Given the description of an element on the screen output the (x, y) to click on. 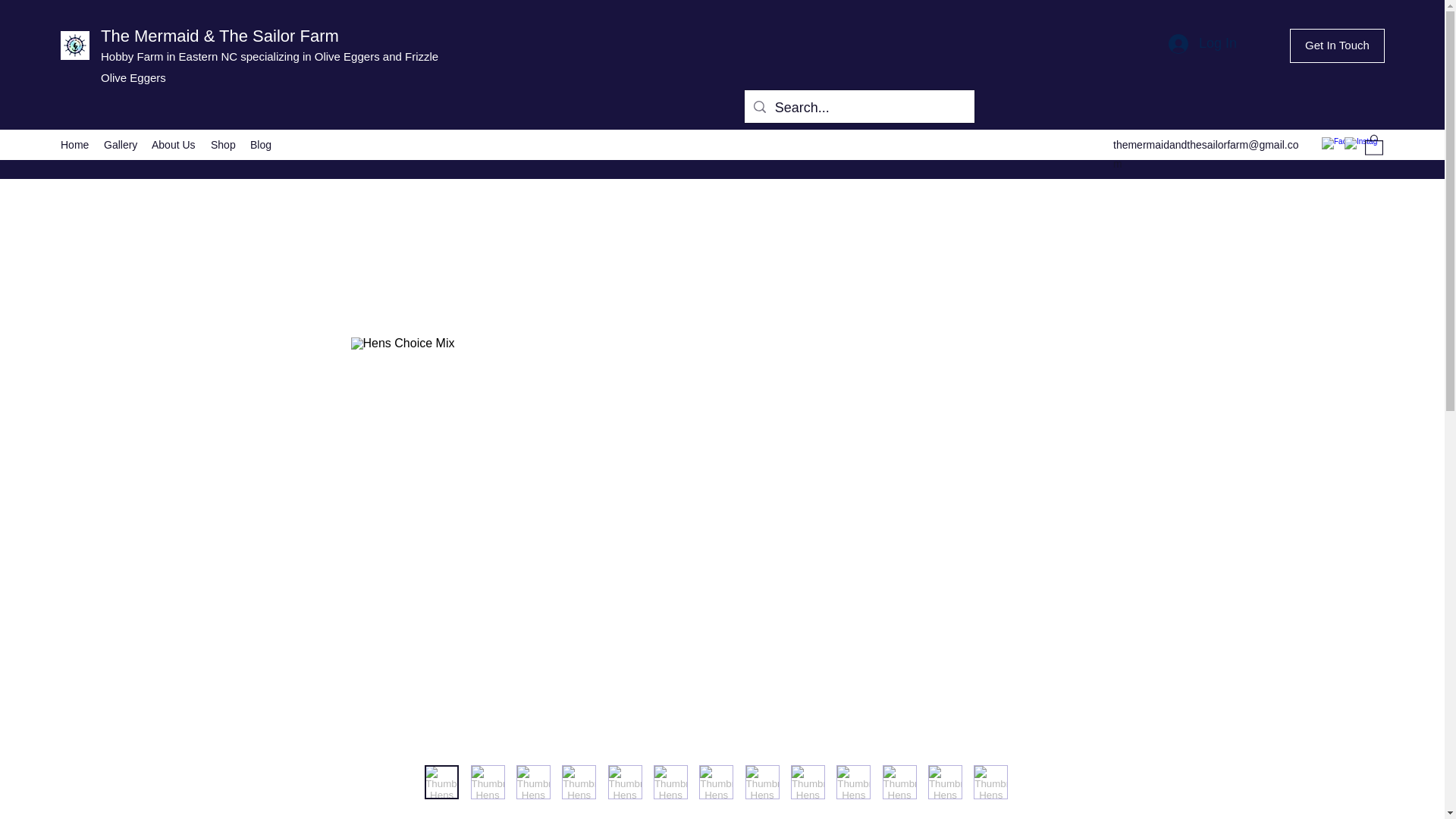
Log In (1202, 43)
Blog (261, 144)
Gallery (120, 144)
Home (74, 144)
About Us (173, 144)
Get In Touch (1337, 45)
Shop (223, 144)
